Given the description of an element on the screen output the (x, y) to click on. 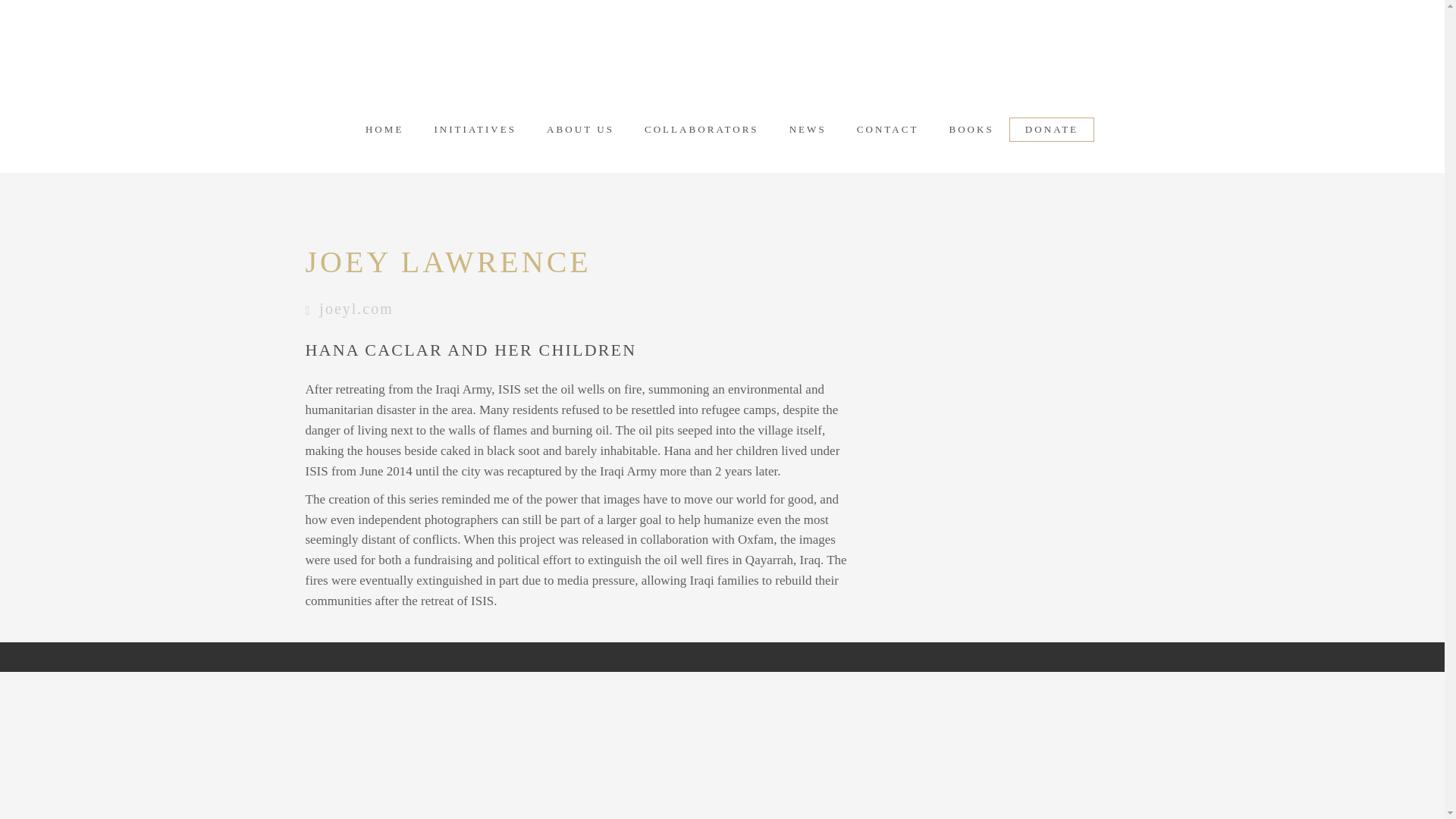
NEWS (807, 128)
HOME (384, 128)
COLLABORATORS (701, 128)
BOOKS (971, 128)
joeyl.com (355, 308)
DONATE (1051, 129)
INITIATIVES (475, 128)
ABOUT US (579, 128)
CONTACT (887, 128)
